Given the description of an element on the screen output the (x, y) to click on. 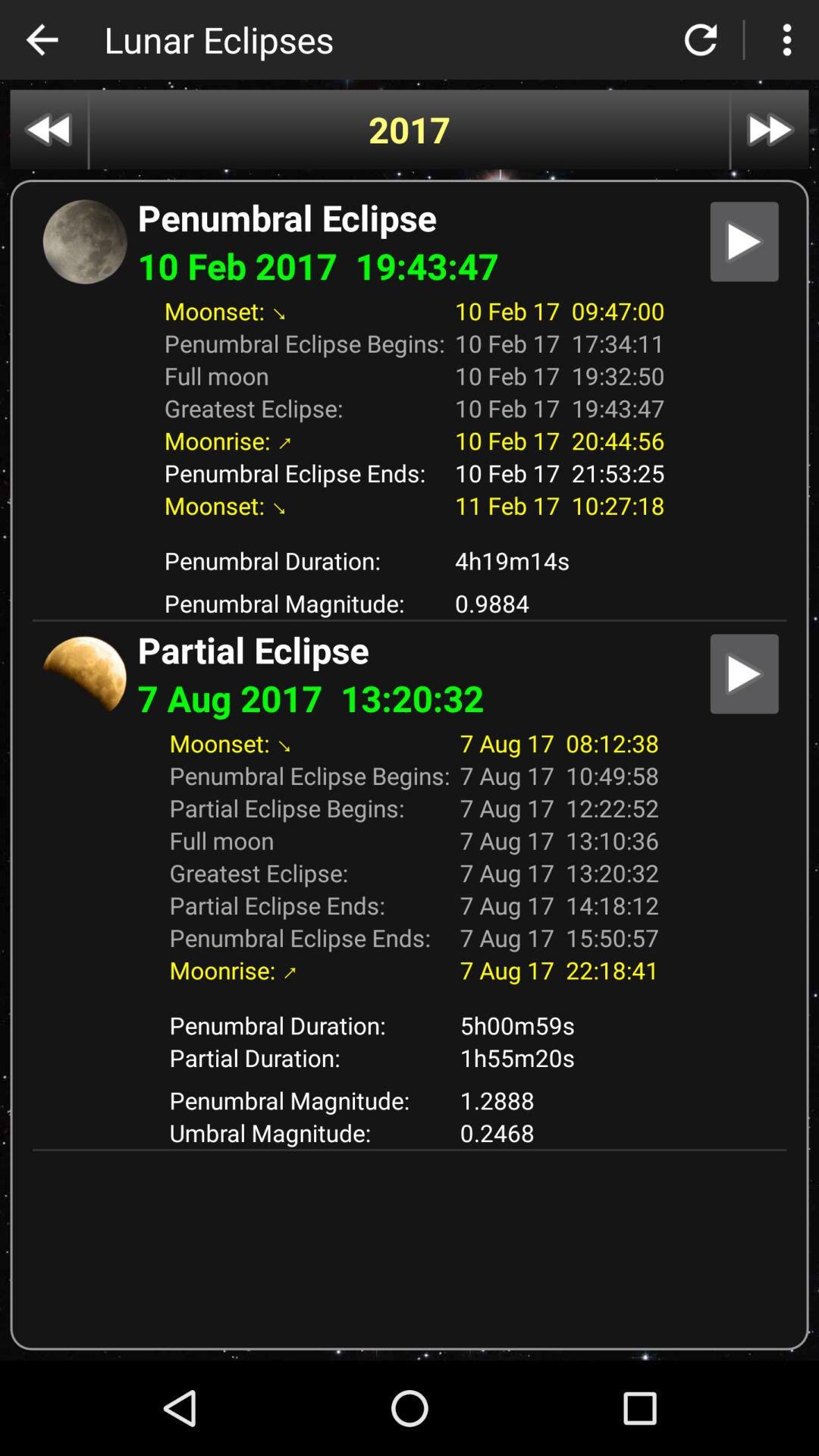
back (41, 39)
